Given the description of an element on the screen output the (x, y) to click on. 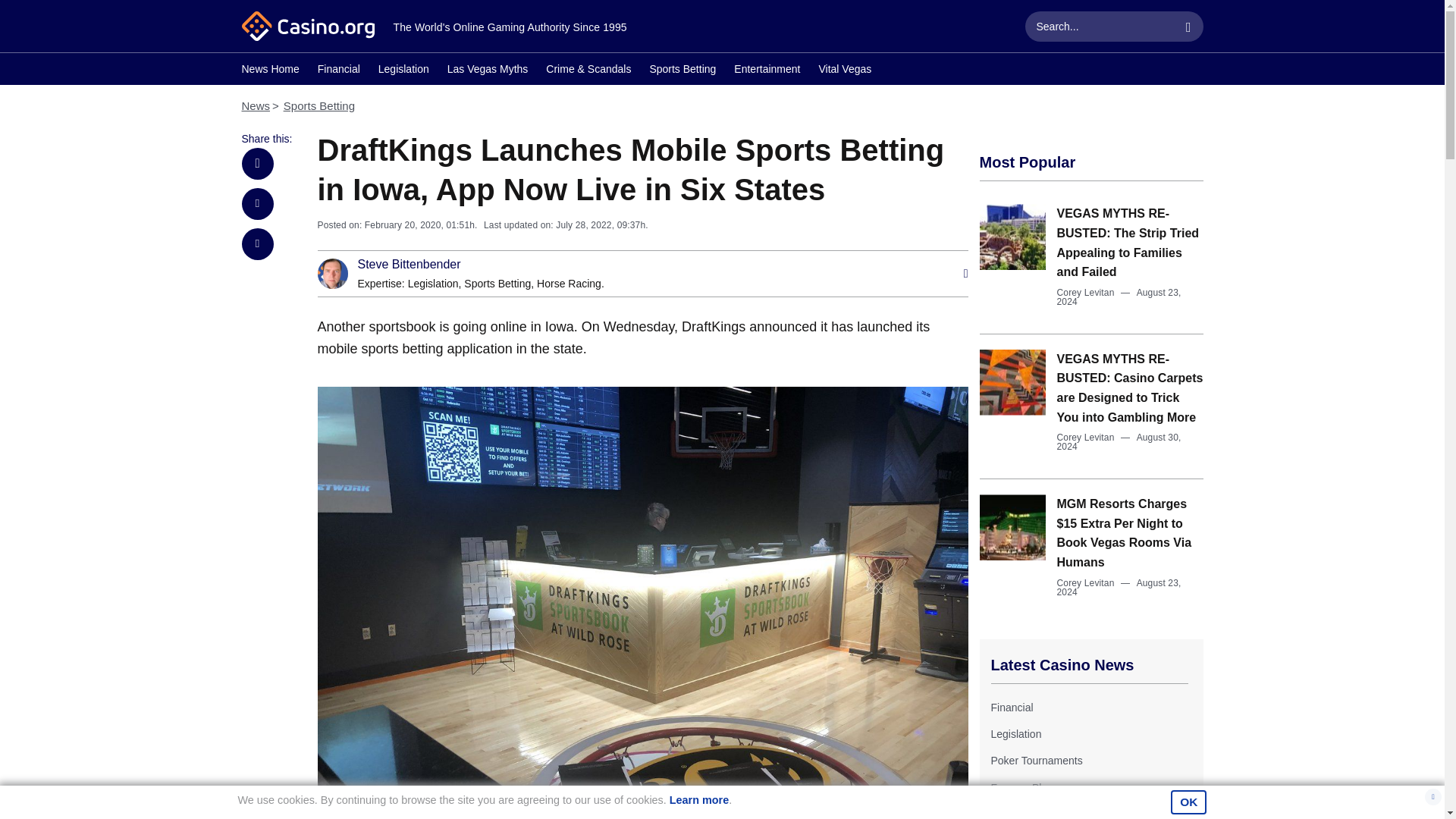
Famous Players (1028, 787)
Corey Levitan (1086, 437)
Poker Tournaments (1035, 760)
Steve Bittenbender (409, 264)
Corey Levitan (1086, 292)
Poker Tournaments (1035, 760)
Vital Vegas (845, 70)
Las Vegas Myths (487, 70)
Sports Betting (319, 105)
Sports (1005, 813)
